Given the description of an element on the screen output the (x, y) to click on. 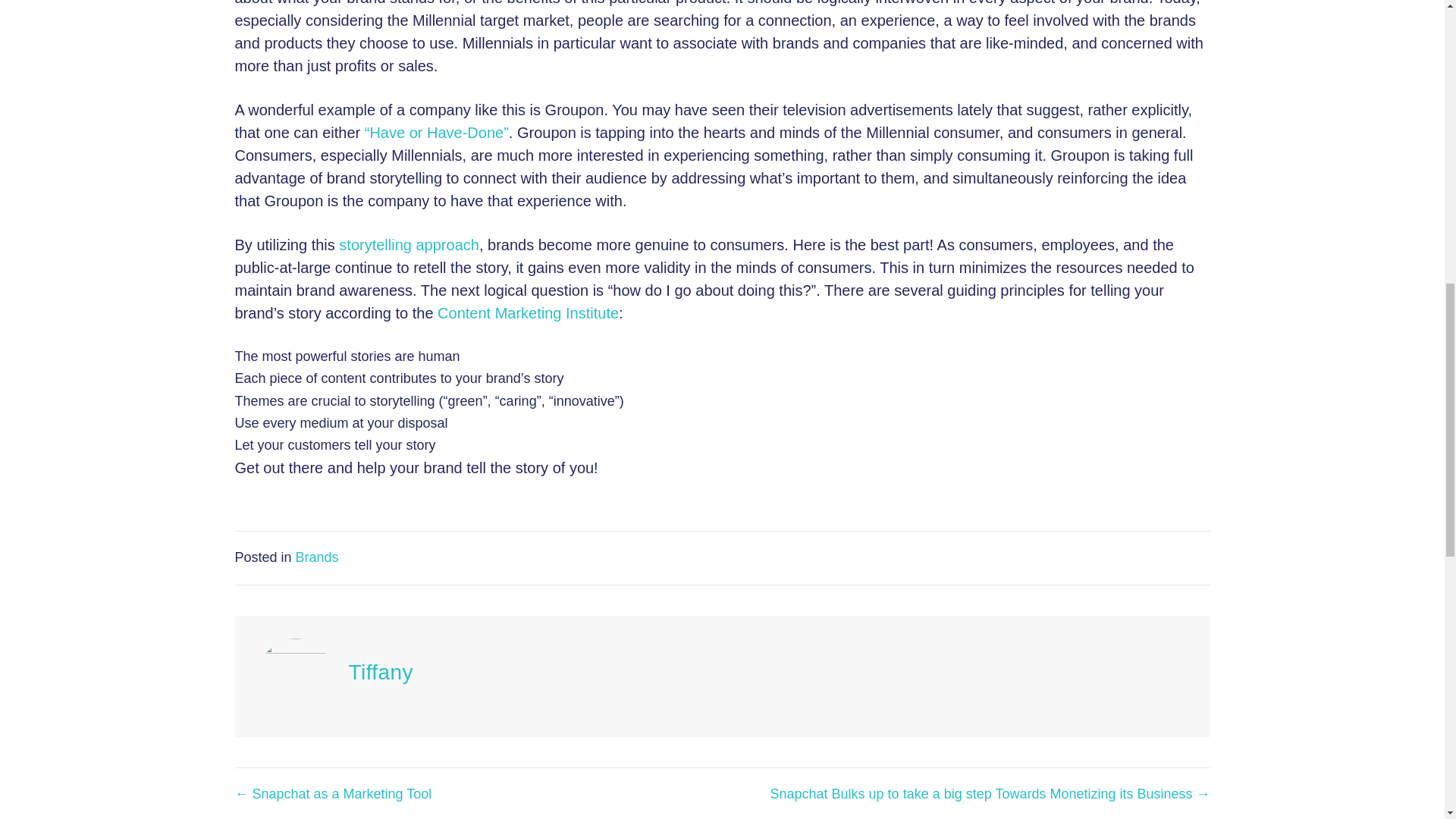
Brands (317, 557)
storytelling approach (409, 244)
Content Marketing Institute (528, 312)
